Given the description of an element on the screen output the (x, y) to click on. 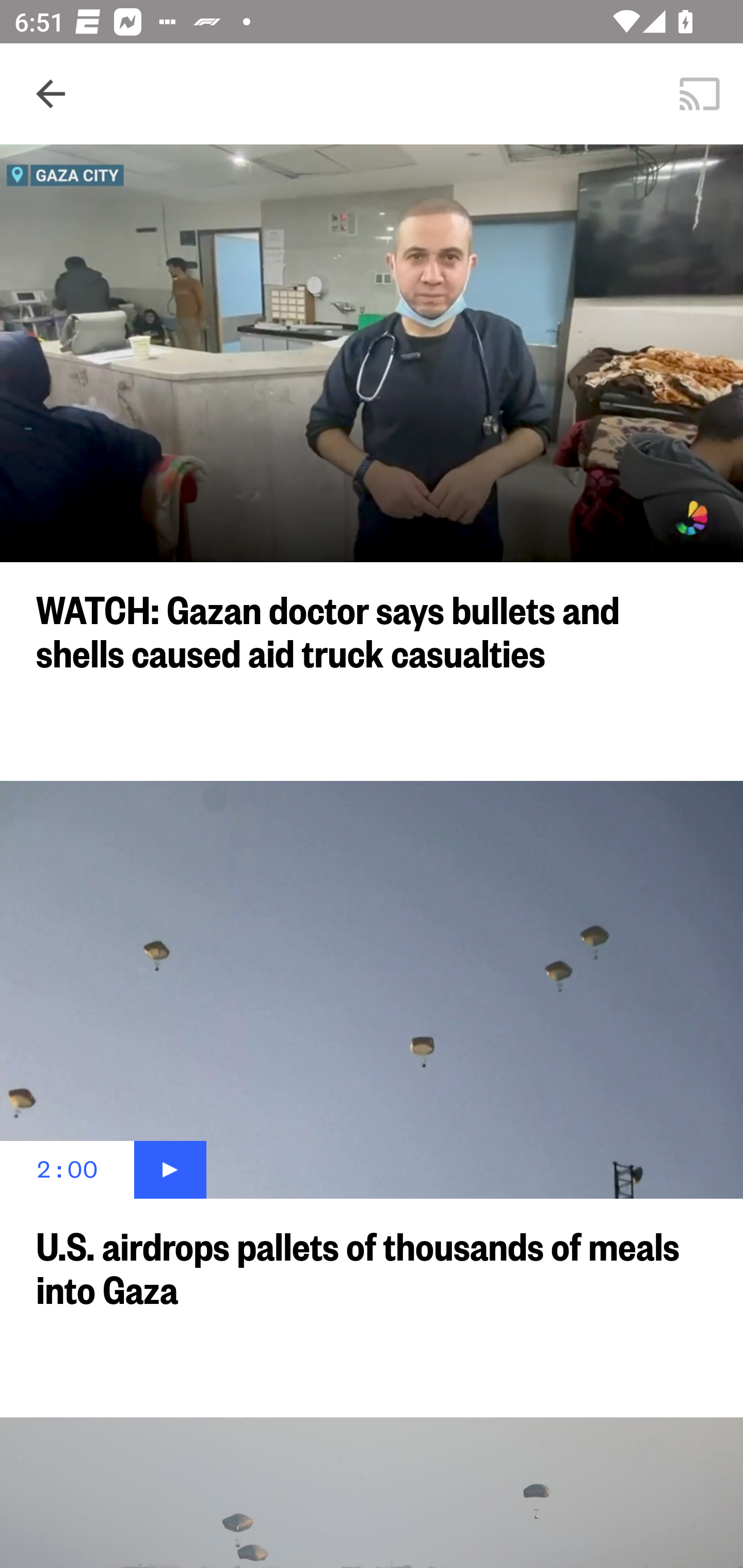
Navigate up (50, 93)
Cast. Disconnected (699, 93)
